Given the description of an element on the screen output the (x, y) to click on. 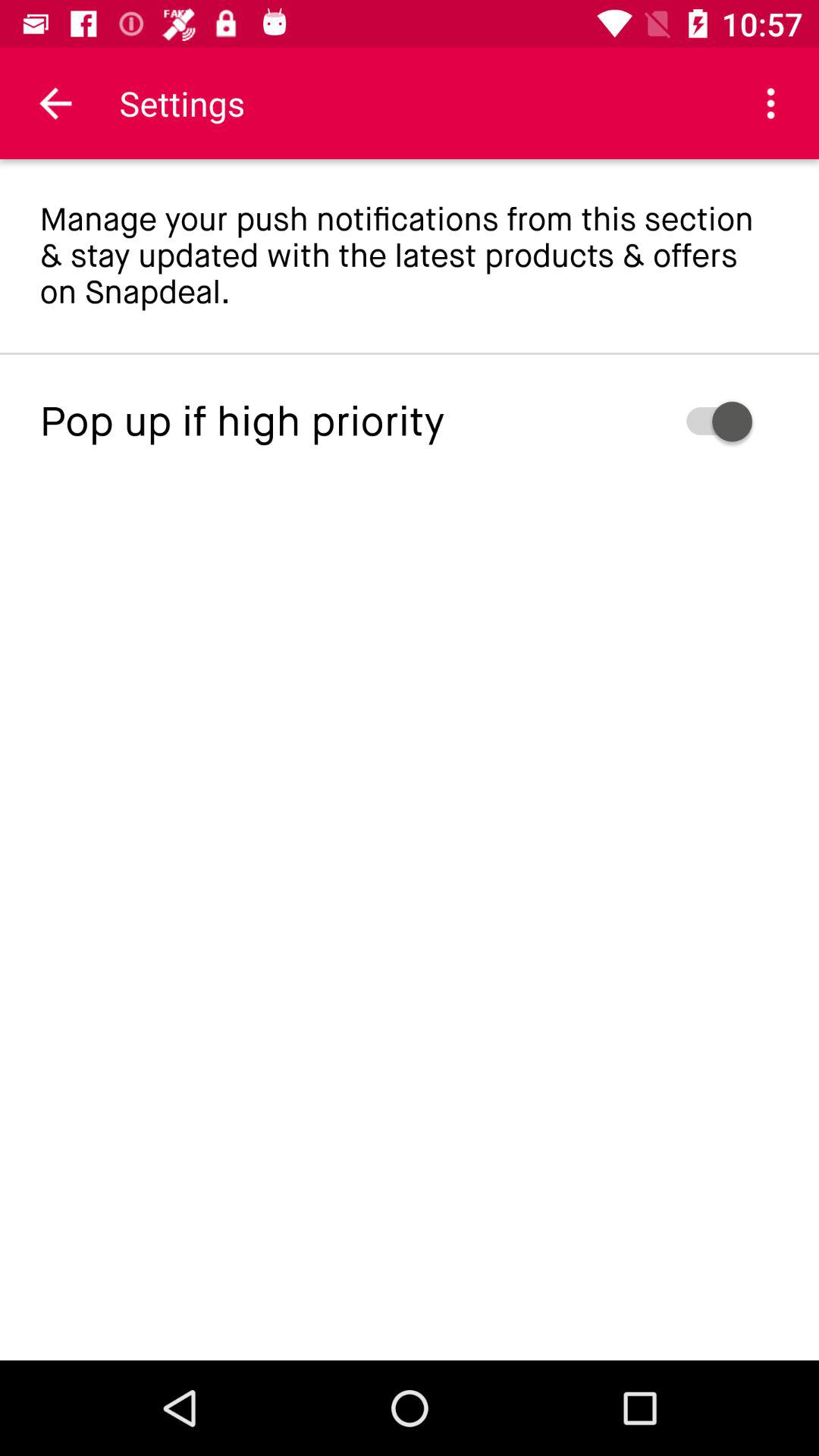
select the icon next to the settings icon (771, 103)
